Given the description of an element on the screen output the (x, y) to click on. 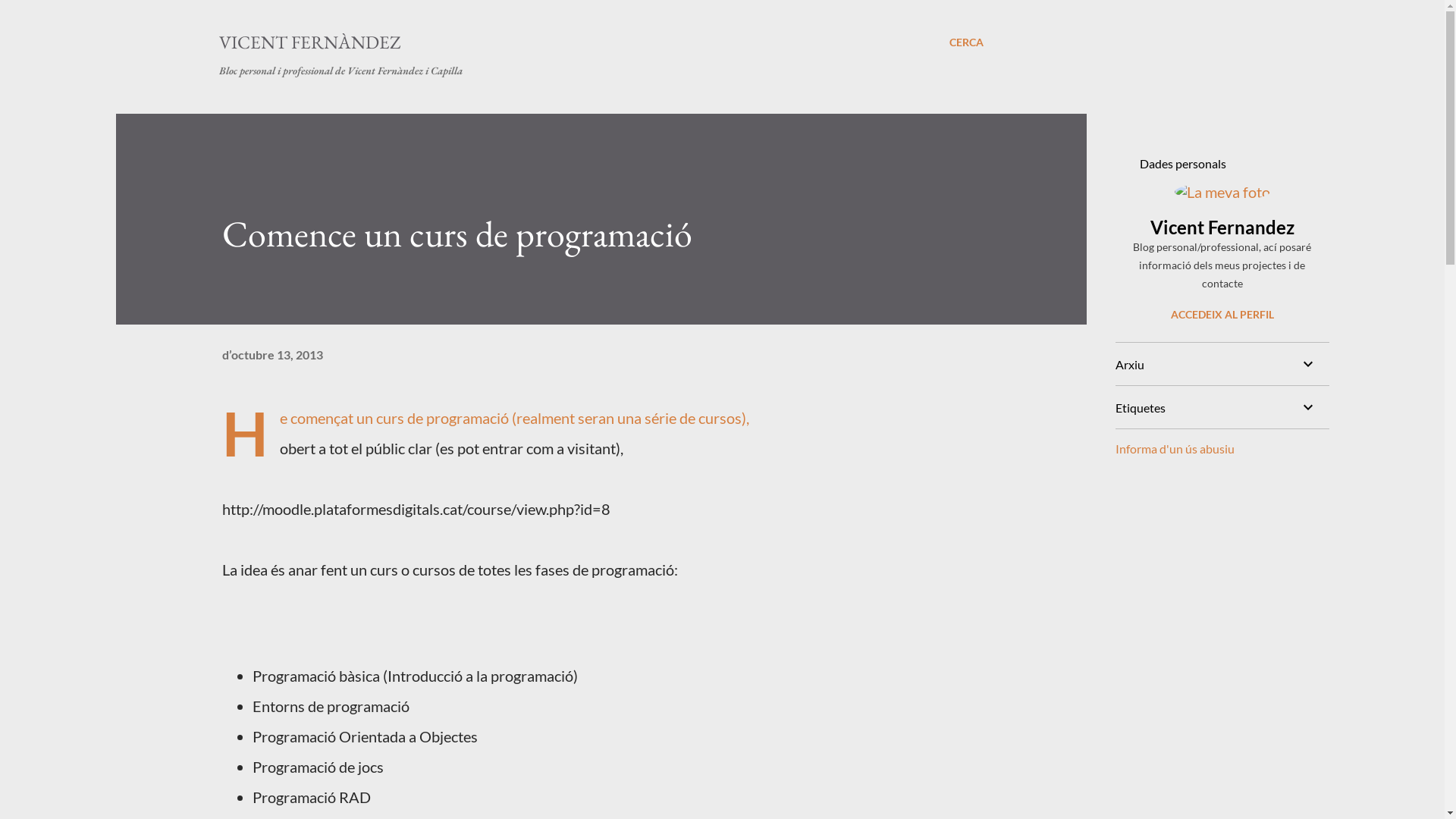
ACCEDEIX AL PERFIL Element type: text (1221, 313)
CERCA Element type: text (966, 42)
Vicent Fernandez Element type: text (1221, 227)
